Given the description of an element on the screen output the (x, y) to click on. 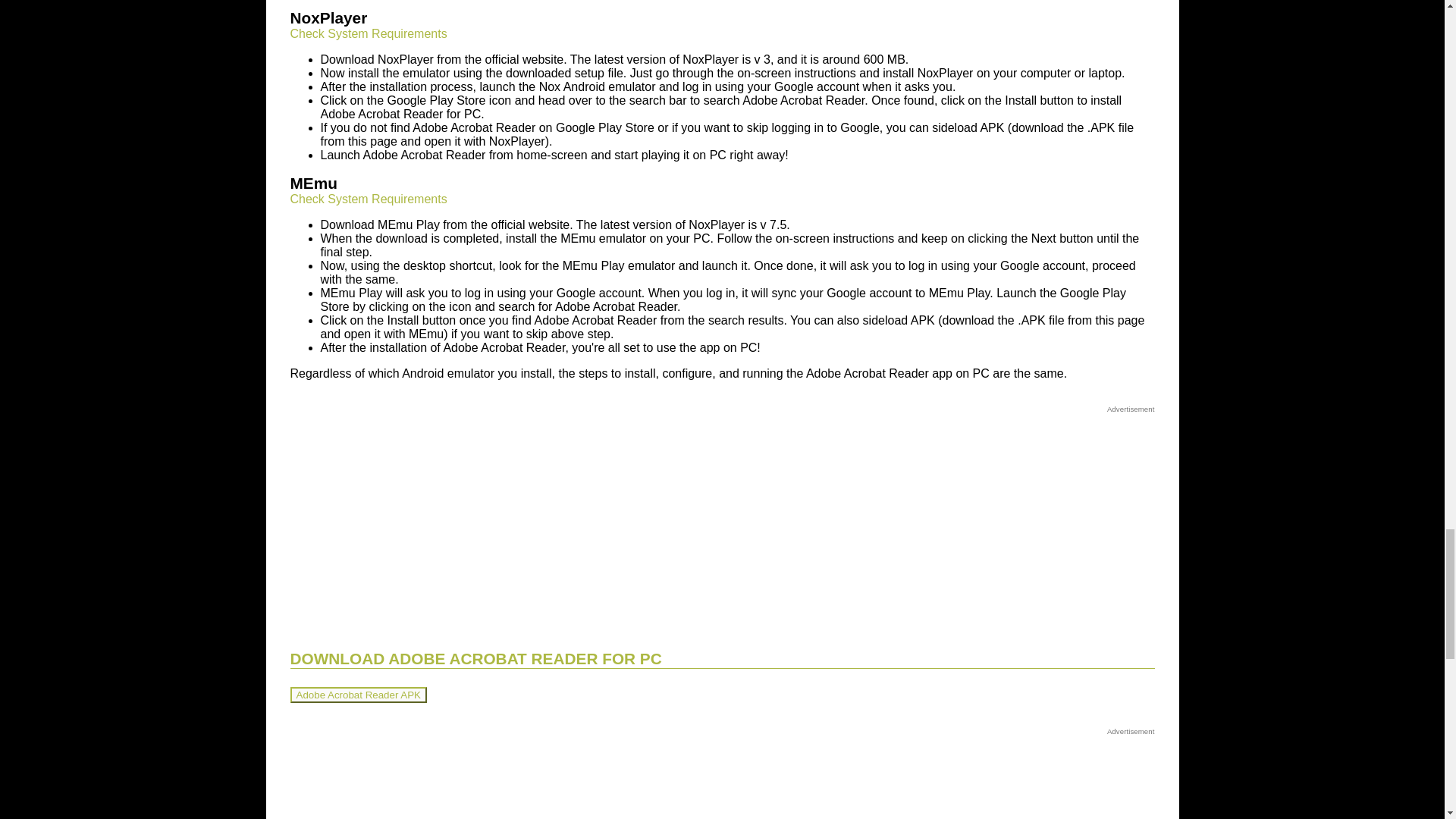
Adobe Acrobat Reader APK (357, 694)
Adobe Acrobat Reader APK (357, 694)
Check System Requirements (367, 33)
Adobe Acrobat Reader APK (357, 694)
Check System Requirements (367, 198)
